Given the description of an element on the screen output the (x, y) to click on. 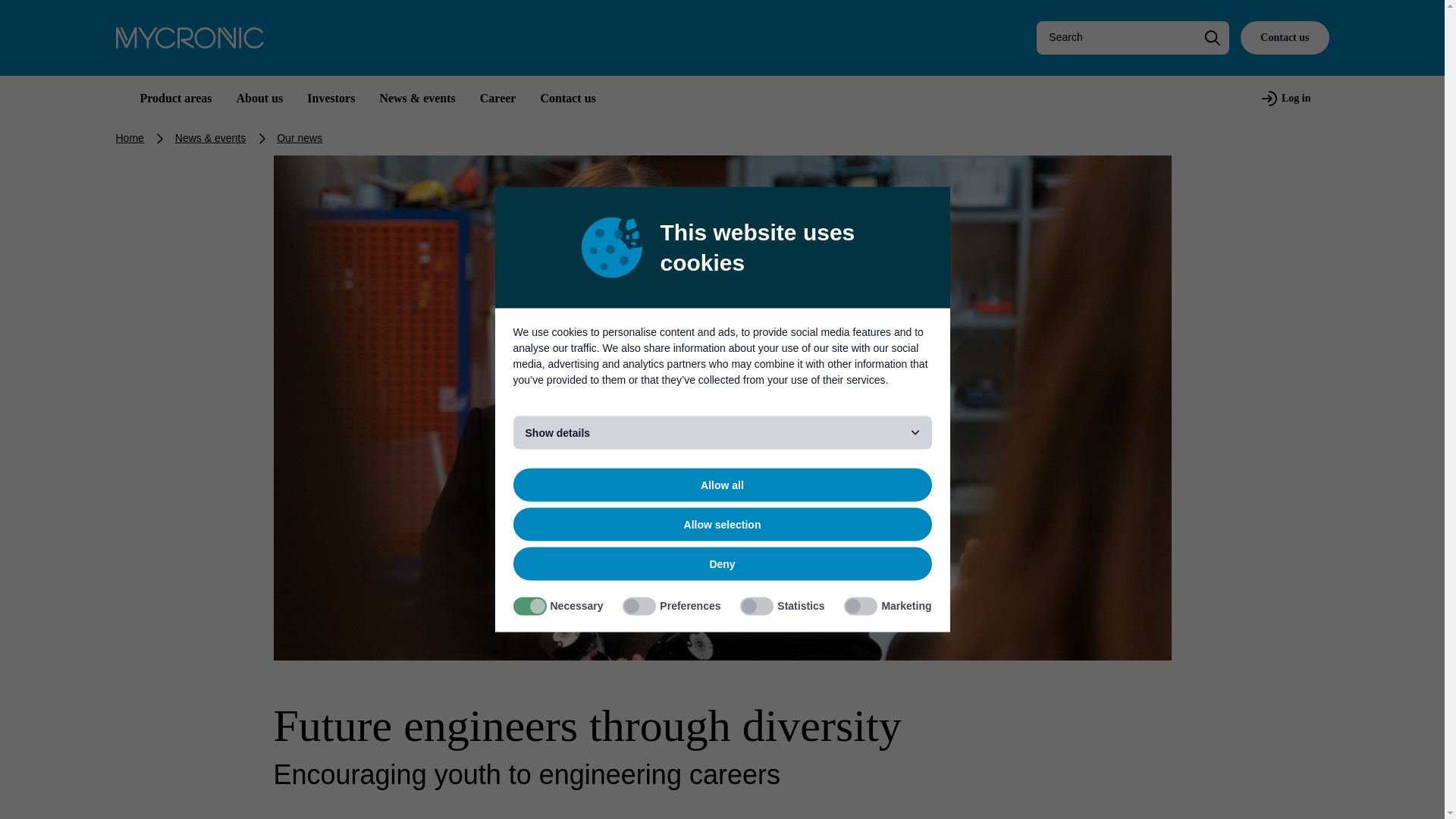
Allow selection (721, 524)
Deny (721, 563)
Allow all (721, 485)
Contact us (1283, 37)
